Given the description of an element on the screen output the (x, y) to click on. 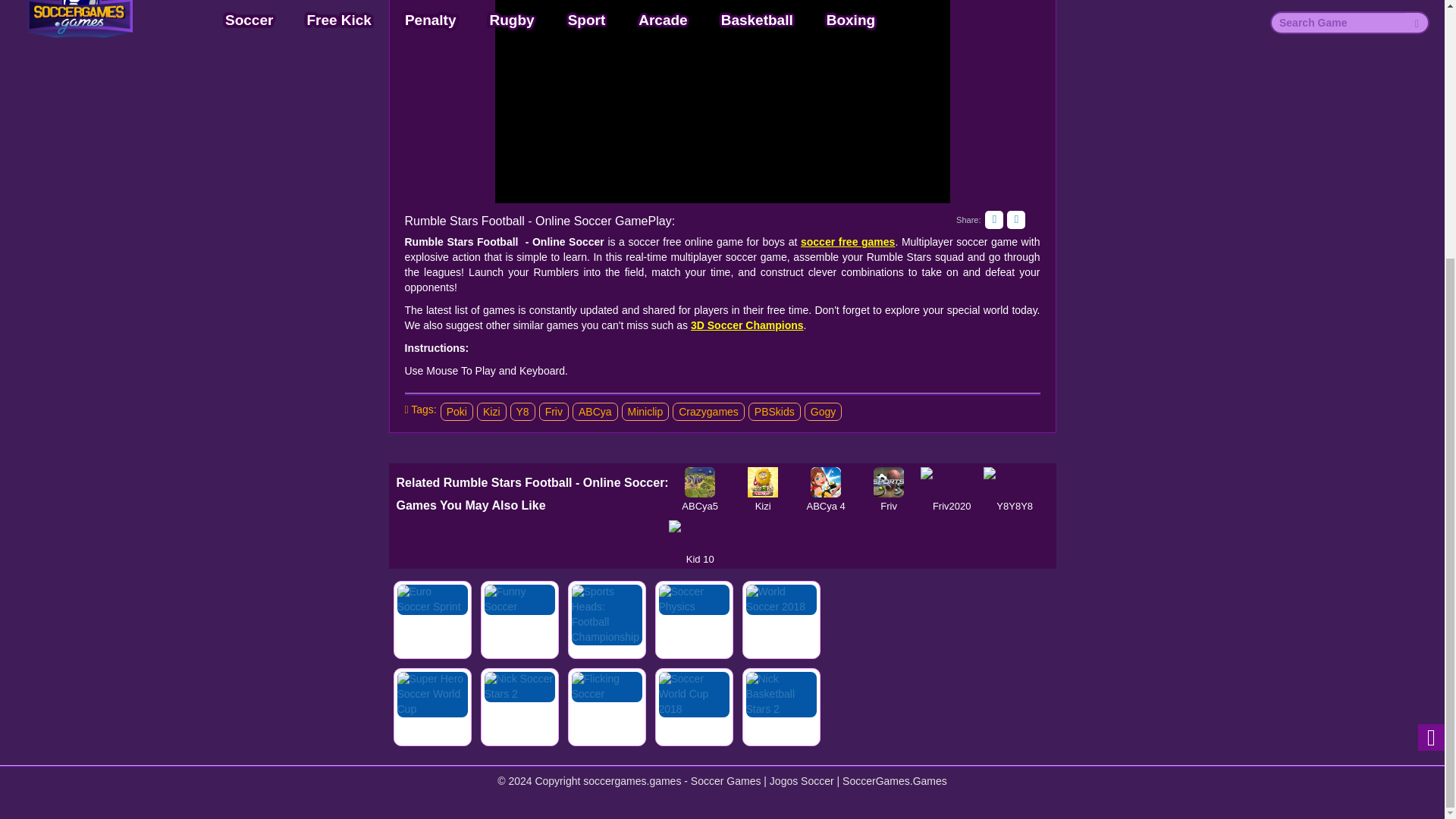
Kizi (763, 481)
ABCya 4 (825, 481)
ABCya 4 (825, 481)
Friv (888, 481)
Funny Soccer (519, 619)
Kid 10 (700, 535)
ABCya (594, 411)
Poki (457, 411)
Y8Y8Y8 (1015, 481)
ABCya5 (700, 481)
